Given the description of an element on the screen output the (x, y) to click on. 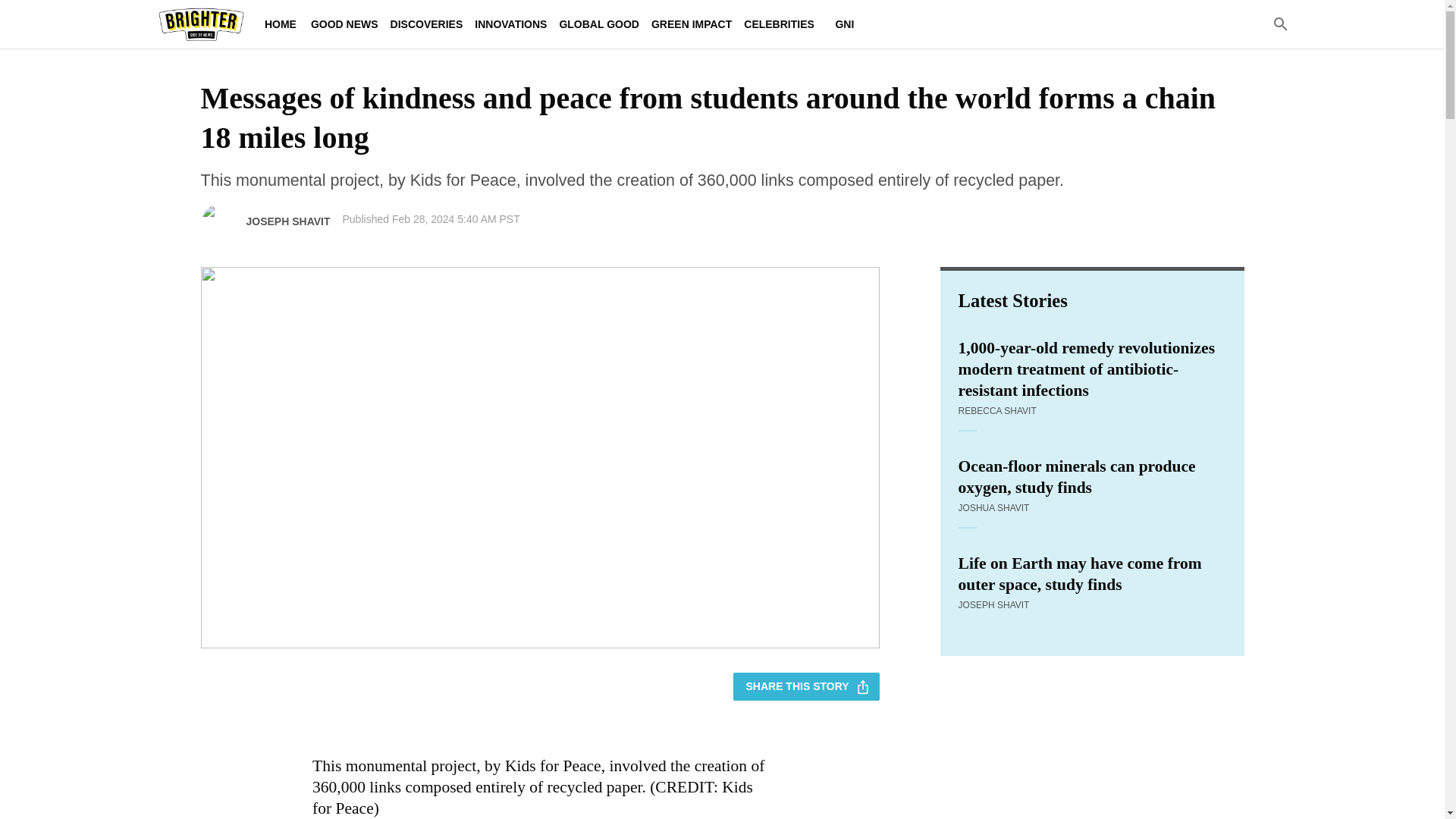
CELEBRITIES (779, 24)
SHARE THIS STORY (806, 686)
DISCOVERIES (426, 24)
GLOBAL GOOD (599, 24)
REBECCA SHAVIT (997, 410)
GOOD NEWS (344, 24)
HOME (280, 24)
GNI (845, 24)
JOSEPH SHAVIT (993, 604)
